Given the description of an element on the screen output the (x, y) to click on. 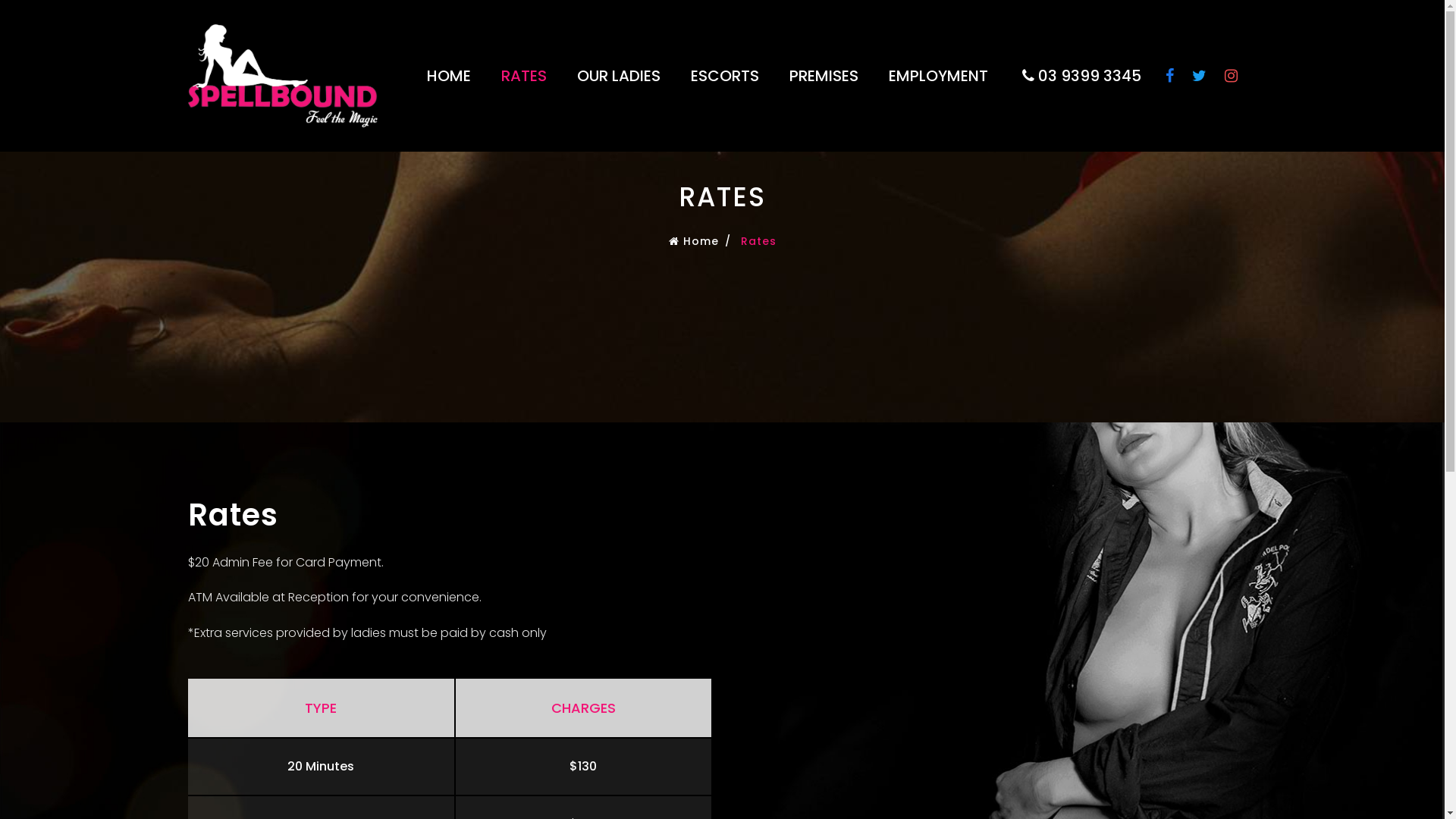
RATES Element type: text (522, 75)
EMPLOYMENT Element type: text (938, 75)
ESCORTS Element type: text (723, 75)
PREMISES Element type: text (823, 75)
HOME Element type: text (447, 75)
OUR LADIES Element type: text (617, 75)
03 9399 3345 Element type: text (1085, 75)
Home Element type: text (693, 240)
